Given the description of an element on the screen output the (x, y) to click on. 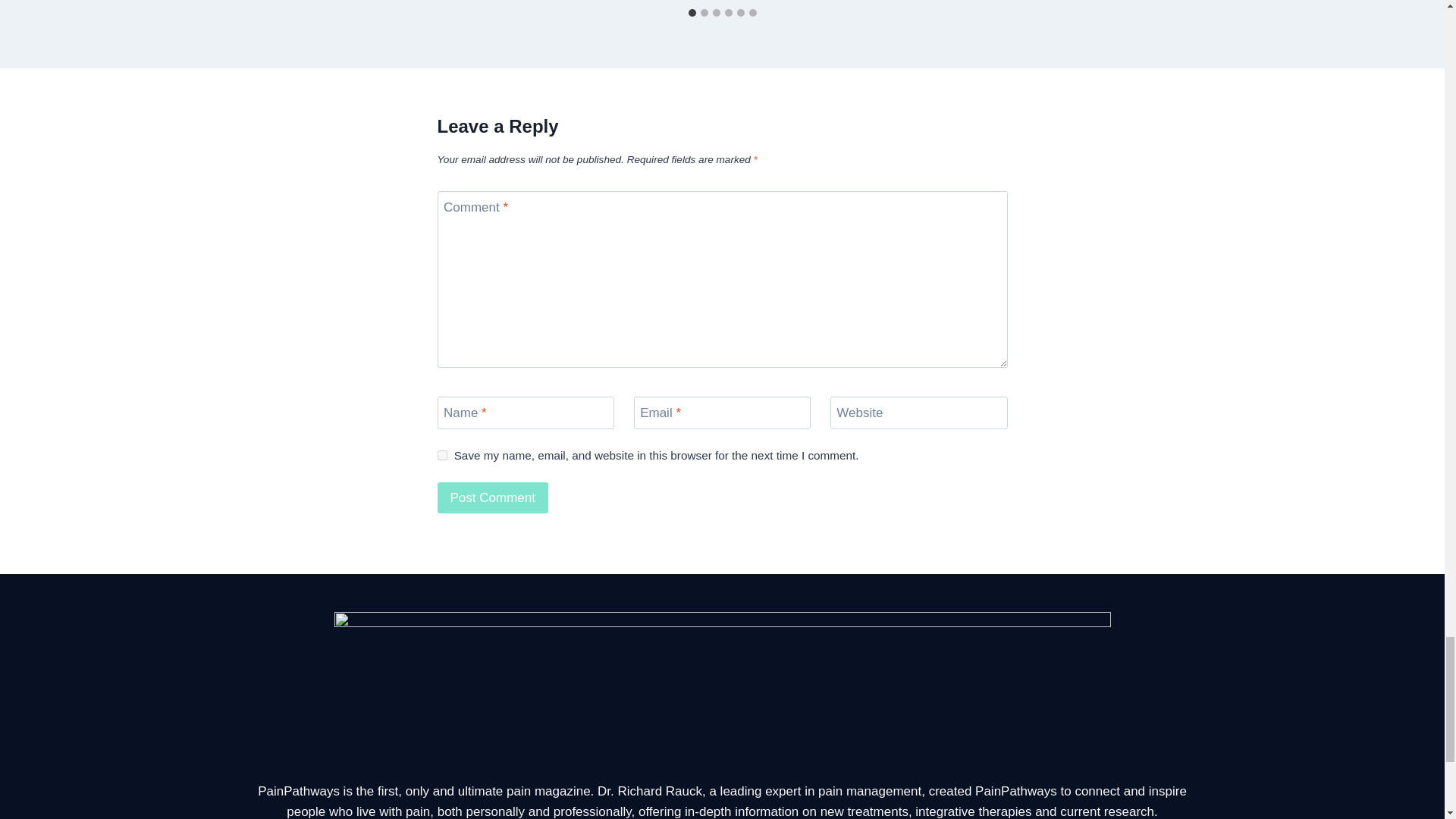
Post Comment (491, 497)
yes (441, 455)
